Given the description of an element on the screen output the (x, y) to click on. 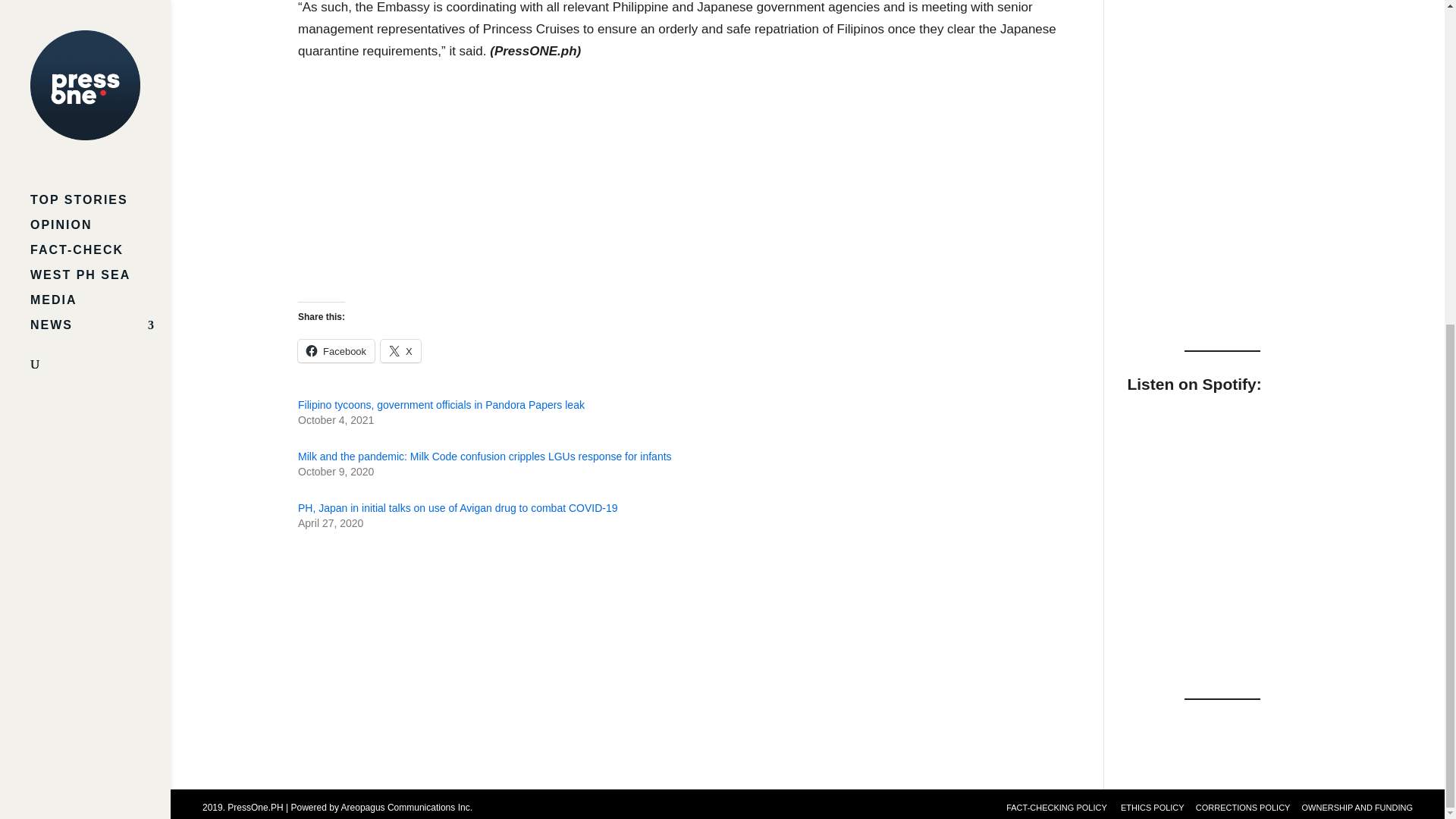
Click to share on Facebook (336, 350)
Click to share on X (400, 350)
